Given the description of an element on the screen output the (x, y) to click on. 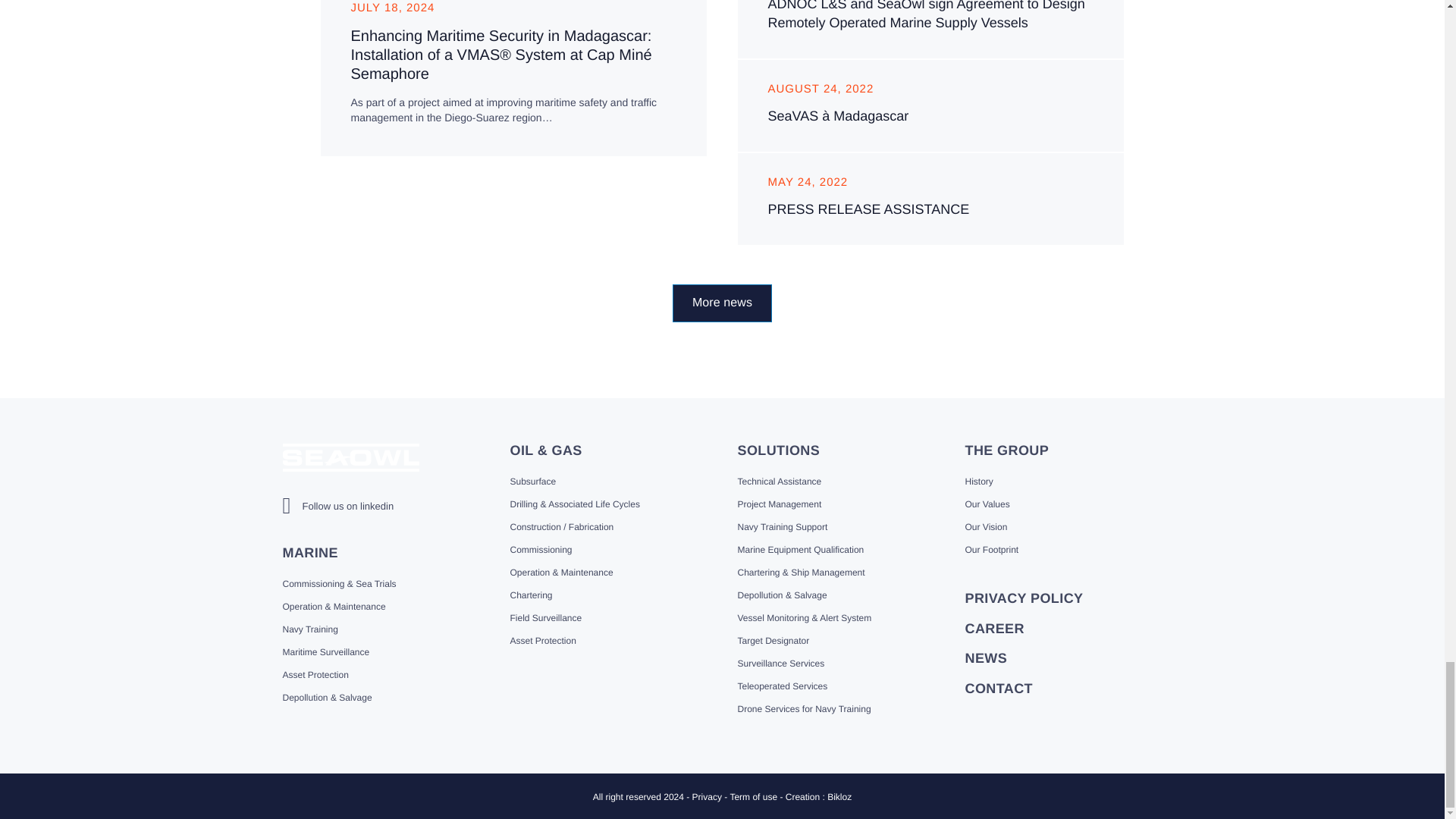
News (985, 657)
Privacy policy (1023, 598)
Career (993, 628)
Logo-seaowl-white (350, 457)
The Group (1005, 450)
PRESS RELEASE ASSISTANCE (868, 209)
